Given the description of an element on the screen output the (x, y) to click on. 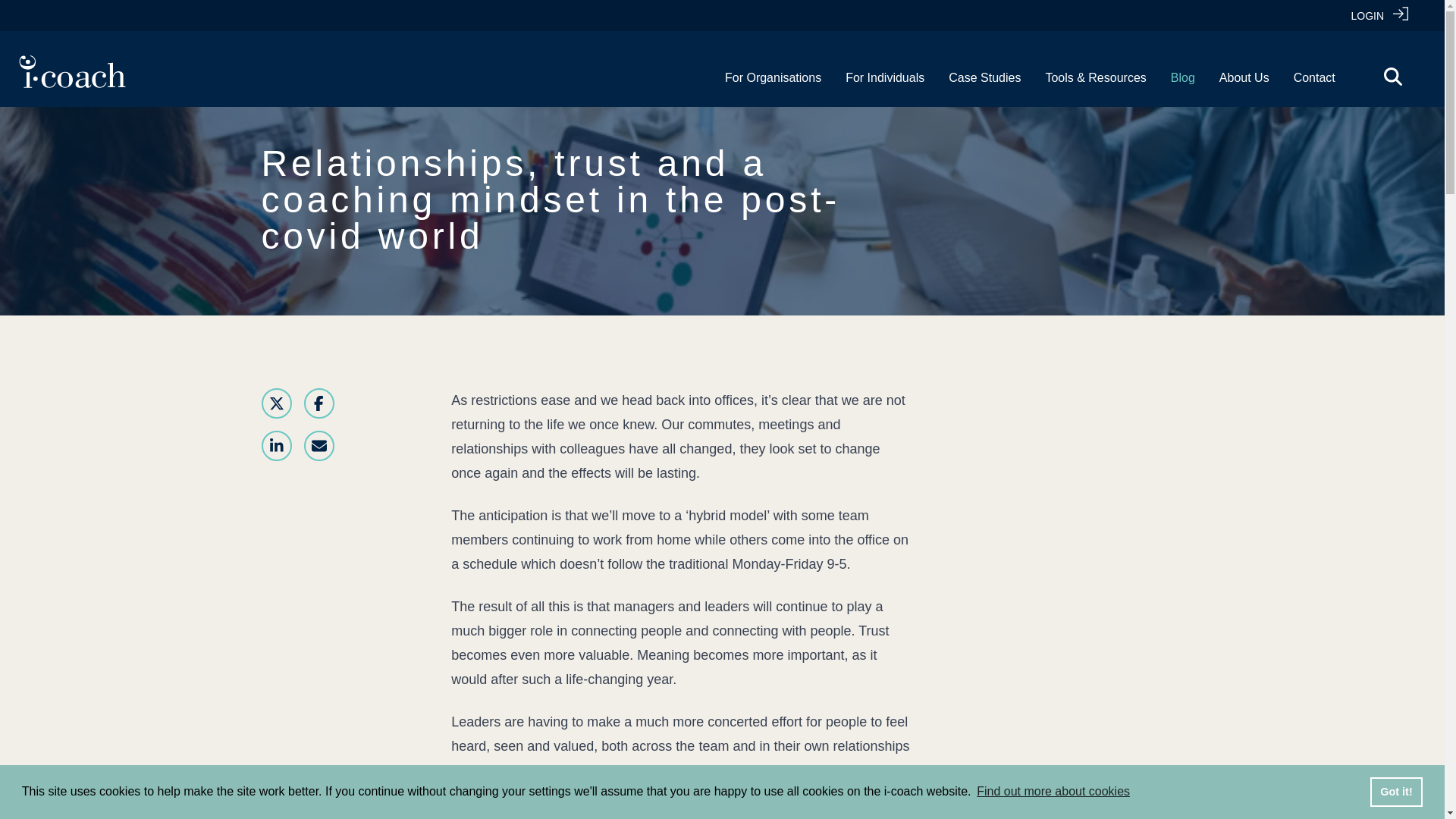
Share via Twitter (275, 403)
Contact (1314, 77)
Return to homepage (71, 71)
About Us (1244, 76)
LOGIN (1379, 15)
Blog (1182, 77)
Share via LinkedIn (275, 445)
Got it! (1396, 791)
For Individuals (884, 76)
Case Studies (984, 77)
